Given the description of an element on the screen output the (x, y) to click on. 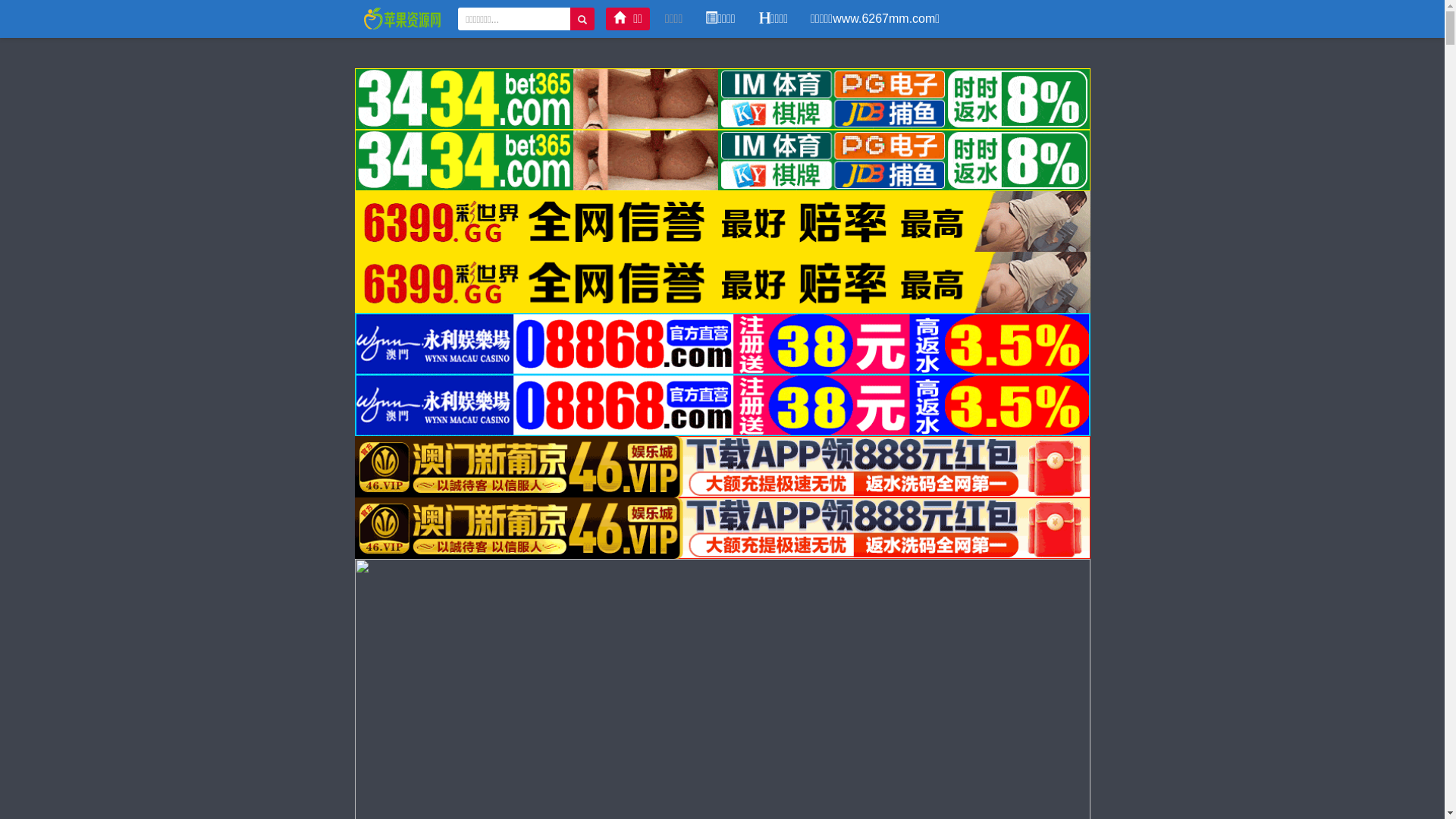
www.6267mm.com Element type: hover (402, 18)
